Given the description of an element on the screen output the (x, y) to click on. 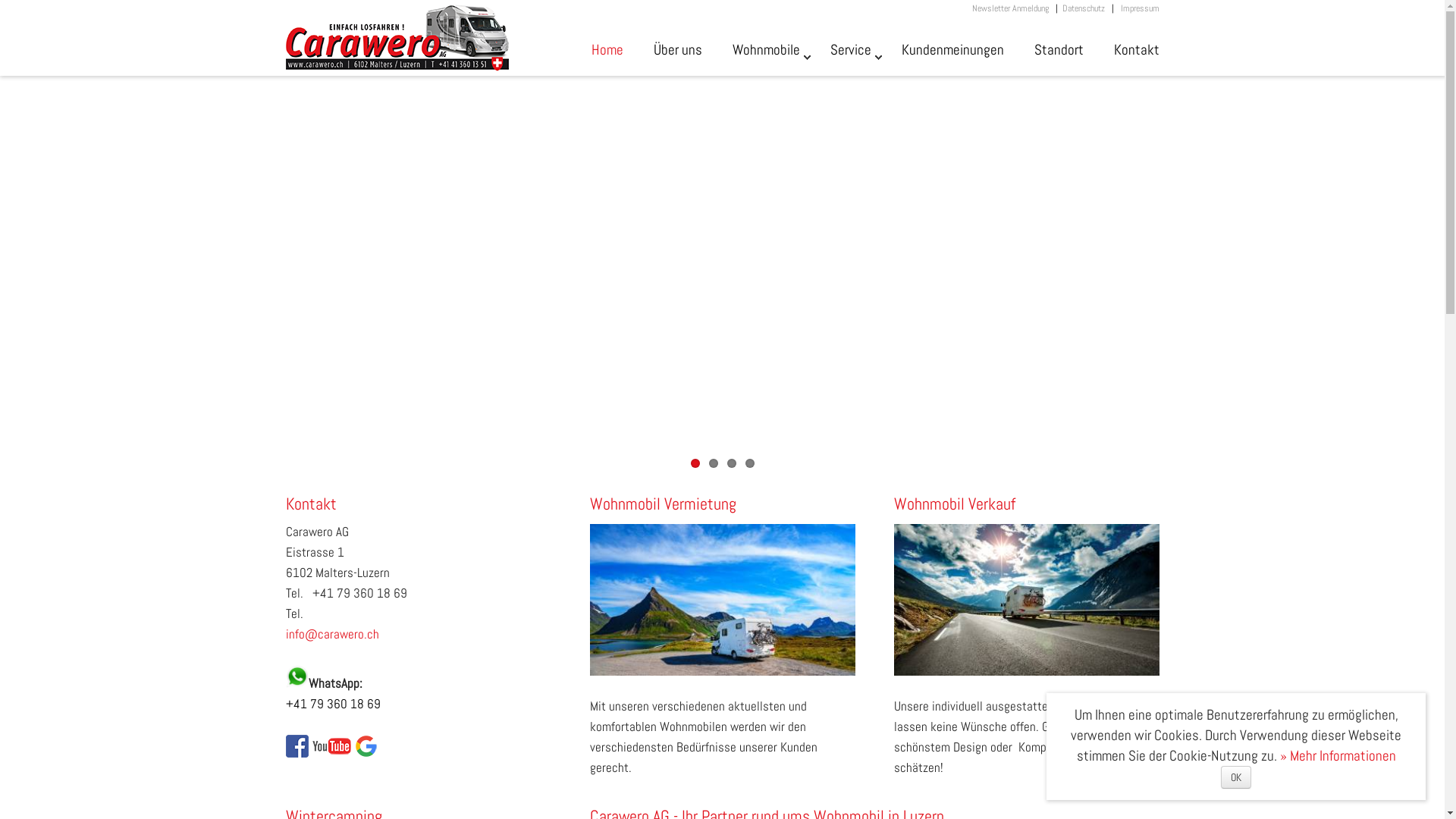
Newsletter Anmeldung Element type: text (1010, 8)
Wohnmobil Verkauf Element type: text (1025, 503)
Wohnmobil Vermietung Element type: text (722, 503)
3 Element type: text (730, 462)
Datenschutz Element type: text (1082, 8)
4 Element type: text (748, 462)
info@carawero.ch Element type: text (331, 633)
Impressum Element type: text (1139, 8)
Home Element type: text (607, 57)
1 Element type: text (694, 462)
Standort Element type: text (1058, 57)
Wohnmobile Element type: text (766, 57)
2 Element type: text (712, 462)
Service Element type: text (849, 57)
OK Element type: text (1235, 776)
Kontakt Element type: text (1135, 57)
Kundenmeinungen Element type: text (951, 57)
Kontakt Element type: text (417, 503)
